Given the description of an element on the screen output the (x, y) to click on. 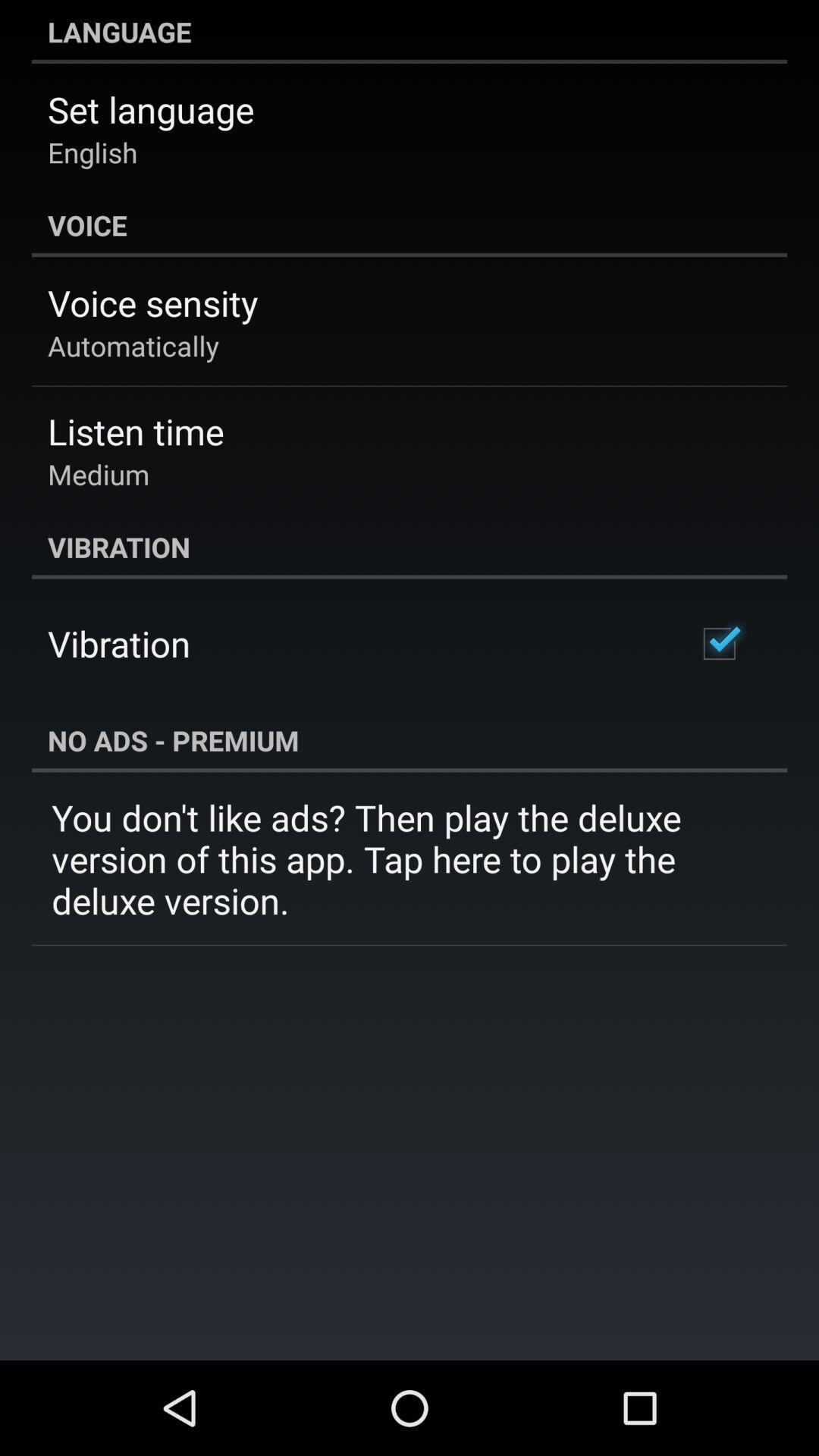
choose no ads - premium icon (409, 740)
